Given the description of an element on the screen output the (x, y) to click on. 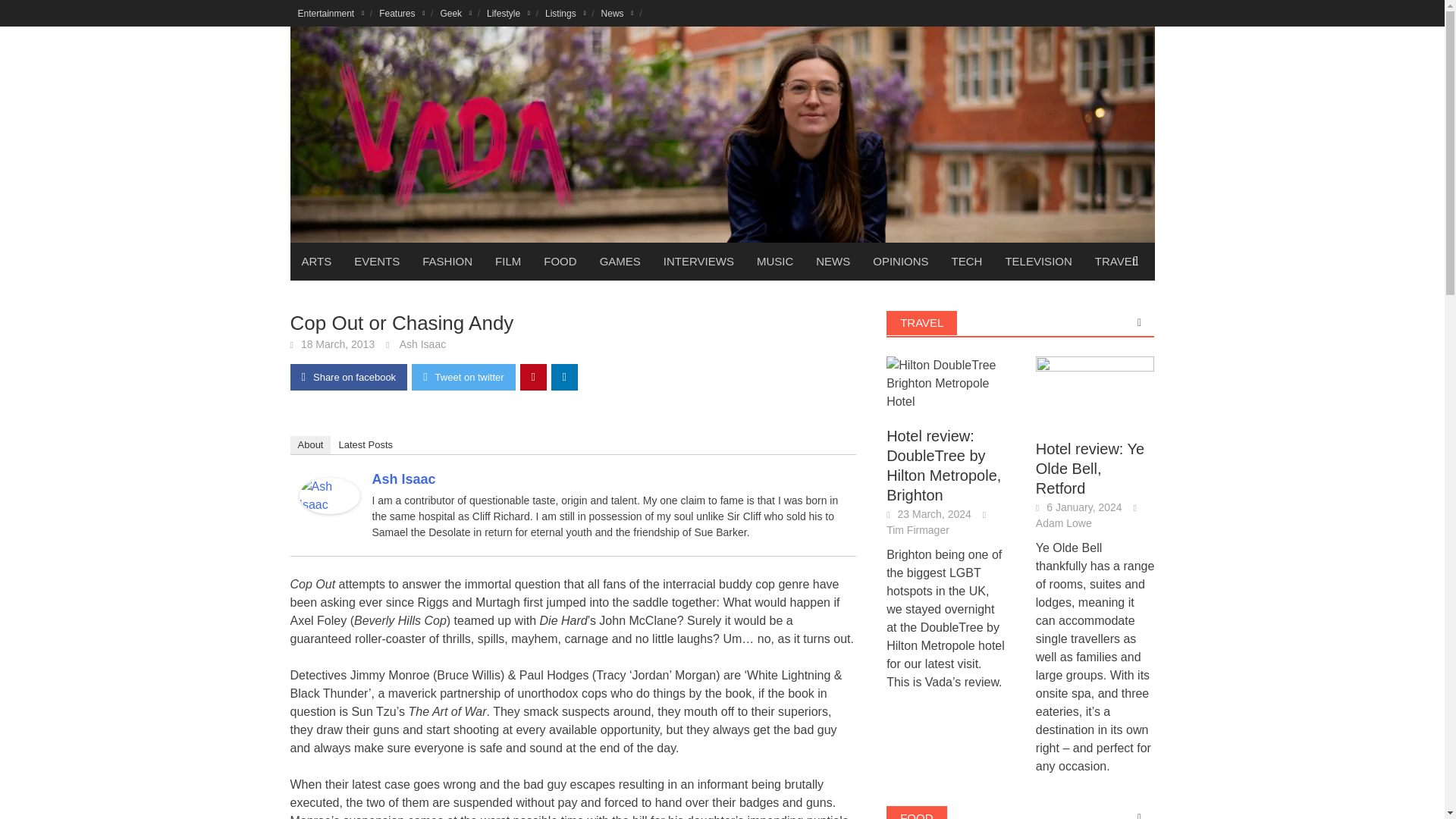
Hotel review: DoubleTree by Hilton Metropole, Brighton (946, 382)
FASHION (446, 261)
NEWS (833, 261)
Hotel review: Ye Olde Bell, Retford (1094, 390)
Hotel review: DoubleTree by Hilton Metropole, Brighton (946, 383)
GAMES (620, 261)
FOOD (560, 261)
EVENTS (376, 261)
News (618, 13)
ARTS (315, 261)
Listings (565, 13)
INTERVIEWS (698, 261)
FILM (507, 261)
MUSIC (775, 261)
